Given the description of an element on the screen output the (x, y) to click on. 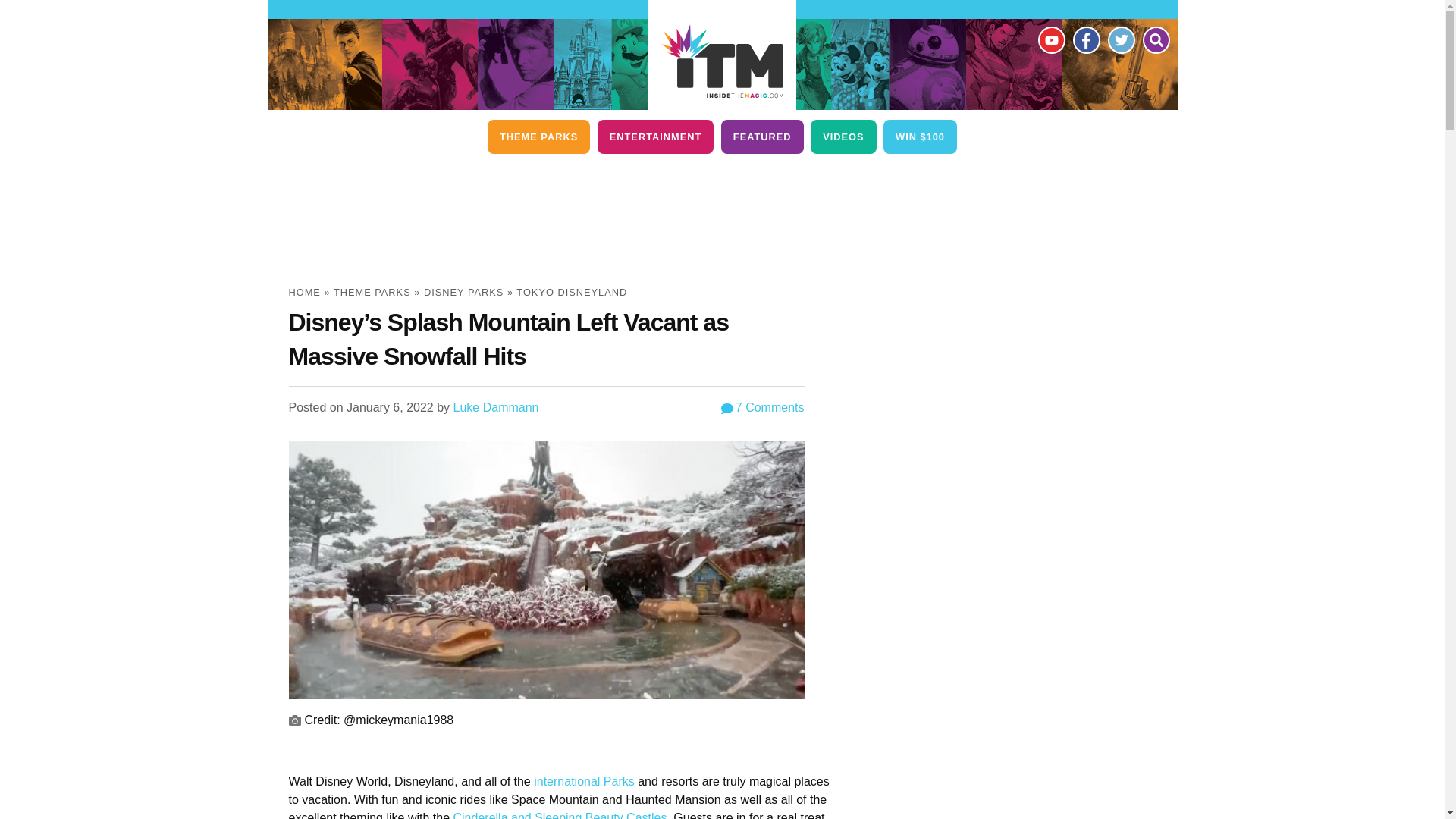
ENTERTAINMENT (655, 136)
THEME PARKS (538, 136)
Twitter (1120, 40)
Search (1155, 40)
Facebook (1085, 40)
YouTube (1050, 40)
FEATURED (761, 136)
